Given the description of an element on the screen output the (x, y) to click on. 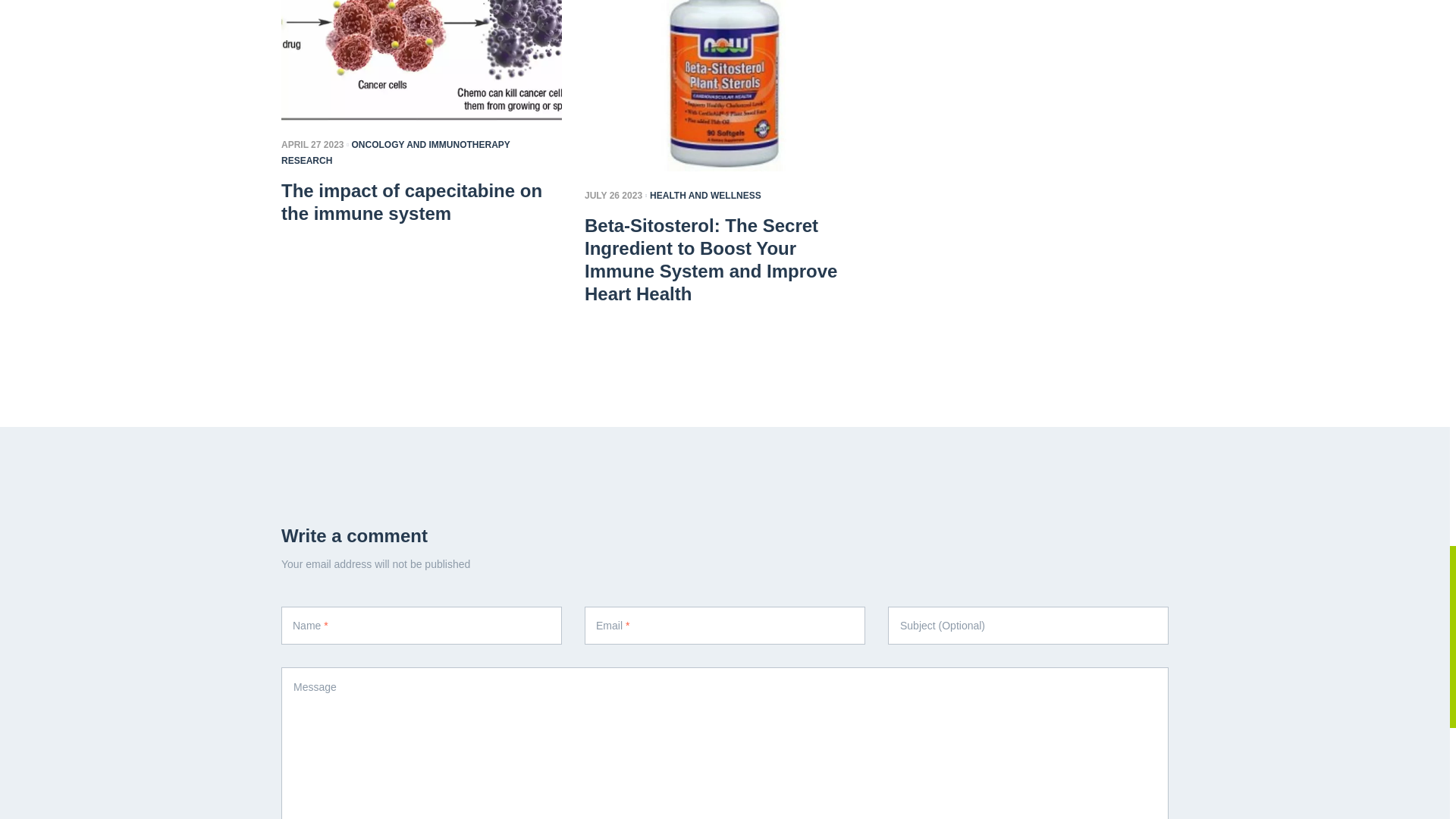
ONCOLOGY AND IMMUNOTHERAPY RESEARCH (396, 152)
HEALTH AND WELLNESS (705, 195)
The impact of capecitabine on the immune system (421, 202)
